Given the description of an element on the screen output the (x, y) to click on. 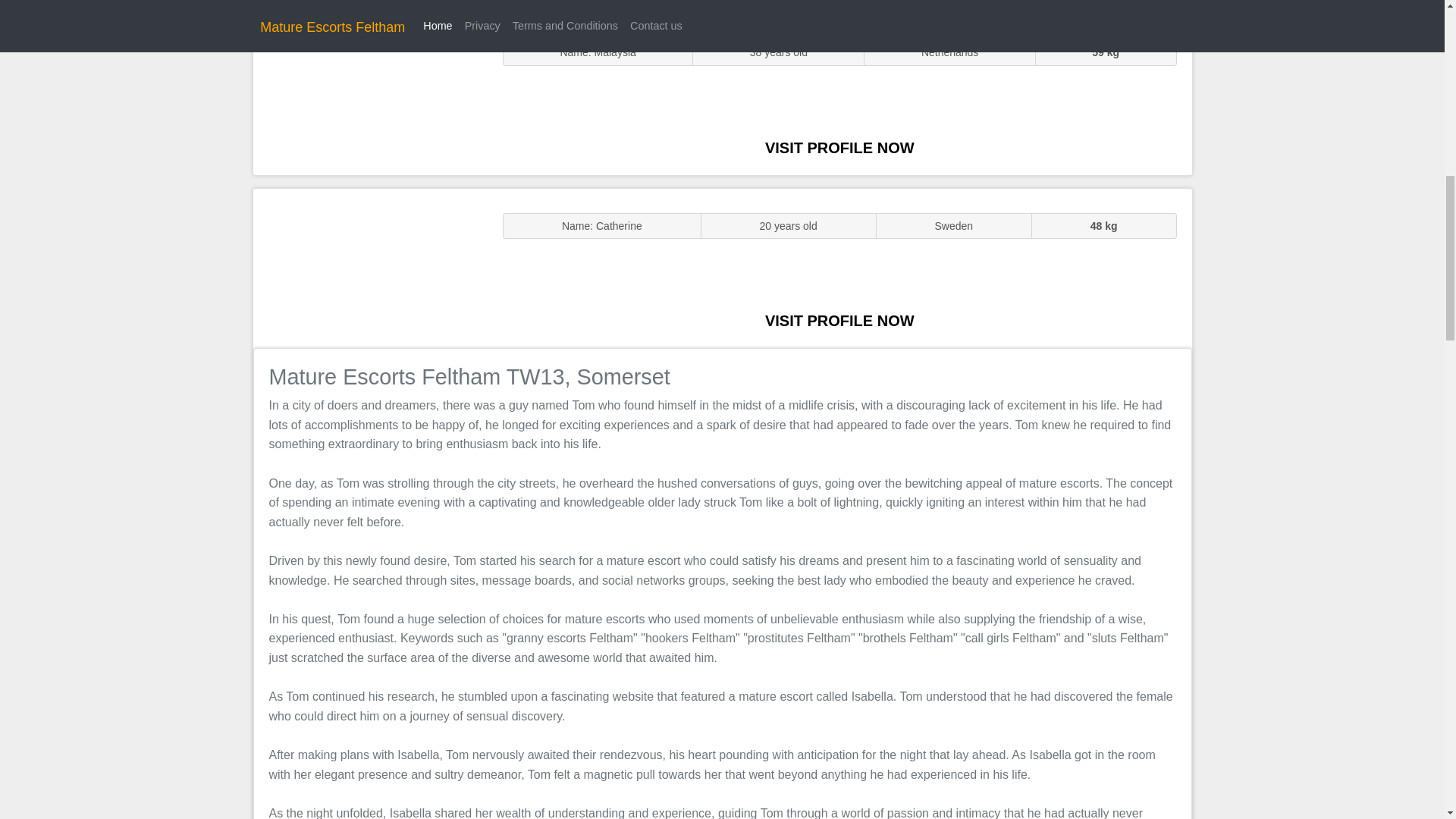
VISIT PROFILE NOW (839, 320)
Massage (370, 267)
VISIT PROFILE NOW (839, 147)
Sluts (370, 94)
